Given the description of an element on the screen output the (x, y) to click on. 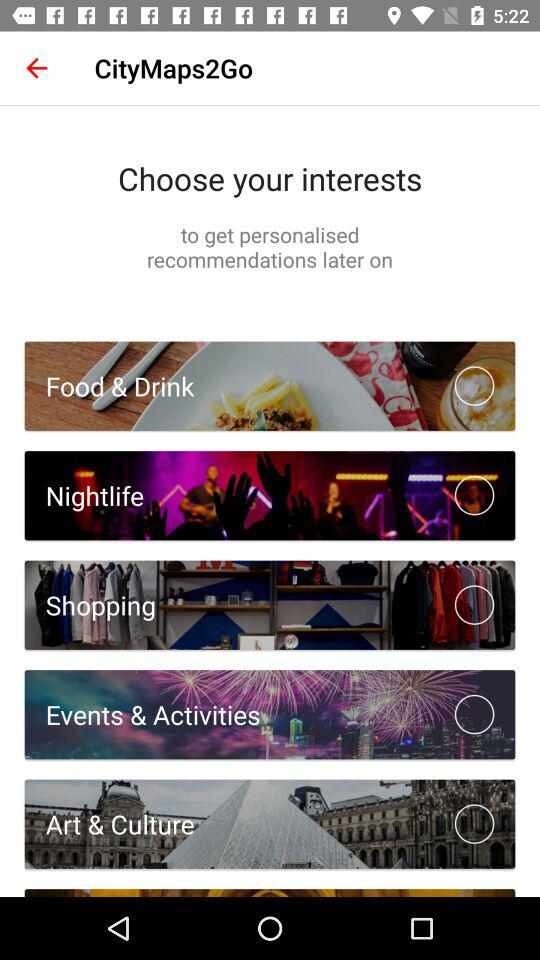
jump until shopping (90, 604)
